Given the description of an element on the screen output the (x, y) to click on. 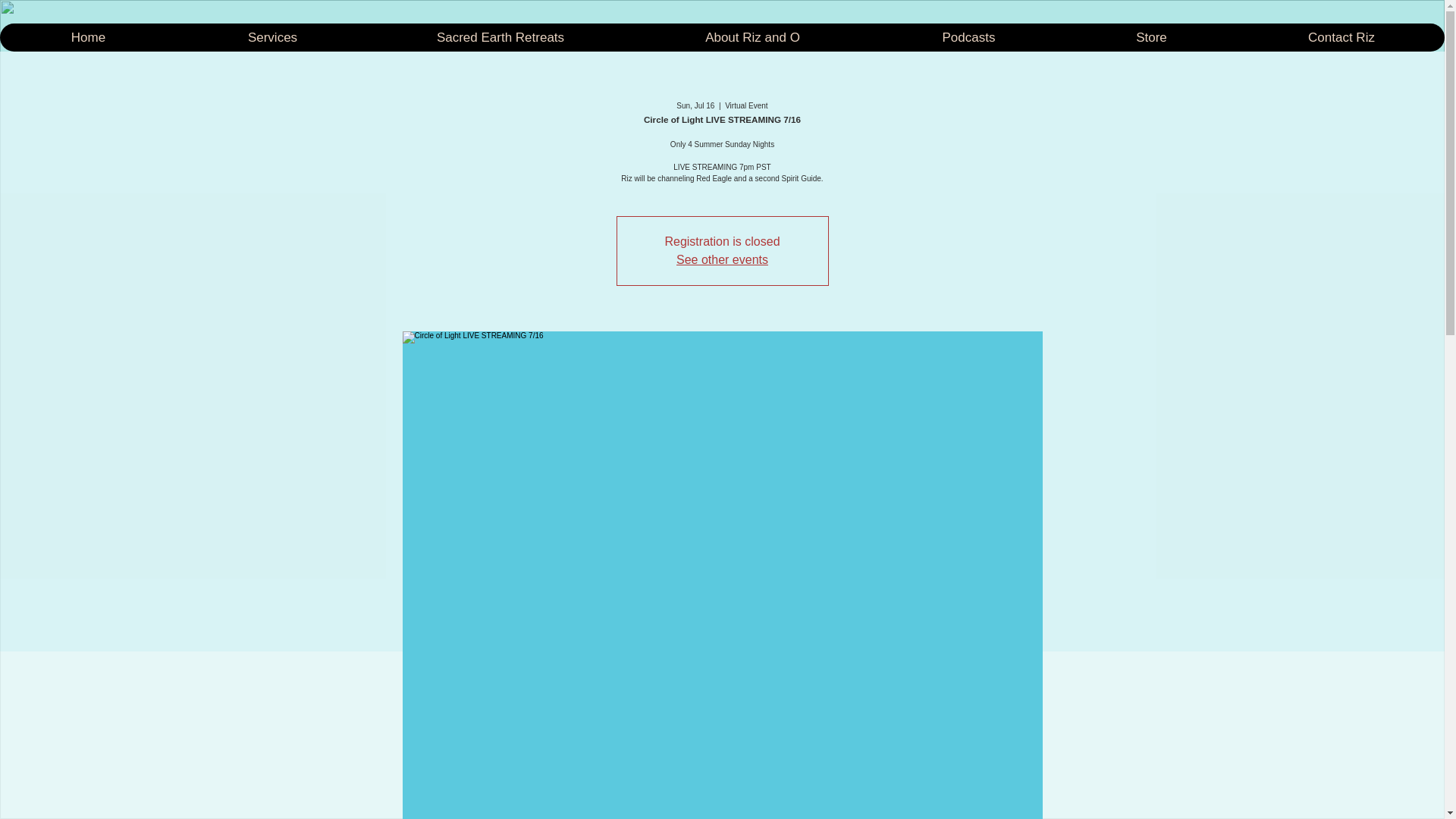
Podcasts (968, 37)
About Riz and O (751, 37)
Services (272, 37)
Home (88, 37)
See other events (722, 259)
Sacred Earth Retreats (499, 37)
Store (1150, 37)
